Given the description of an element on the screen output the (x, y) to click on. 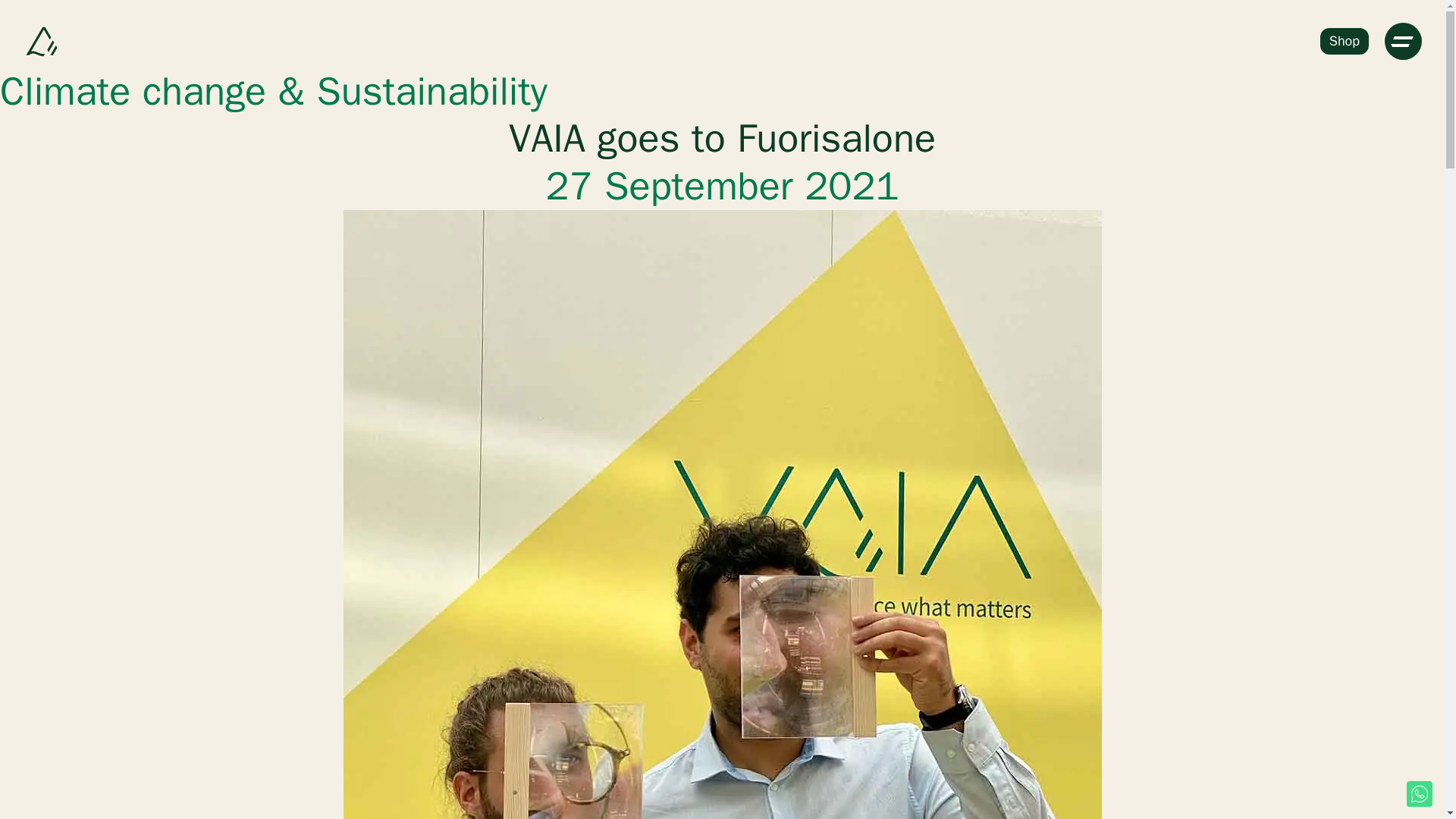
Menu (1403, 40)
VAIAFace What Matters (42, 41)
Shop (1344, 40)
VAIAFace What Matters (42, 41)
